Given the description of an element on the screen output the (x, y) to click on. 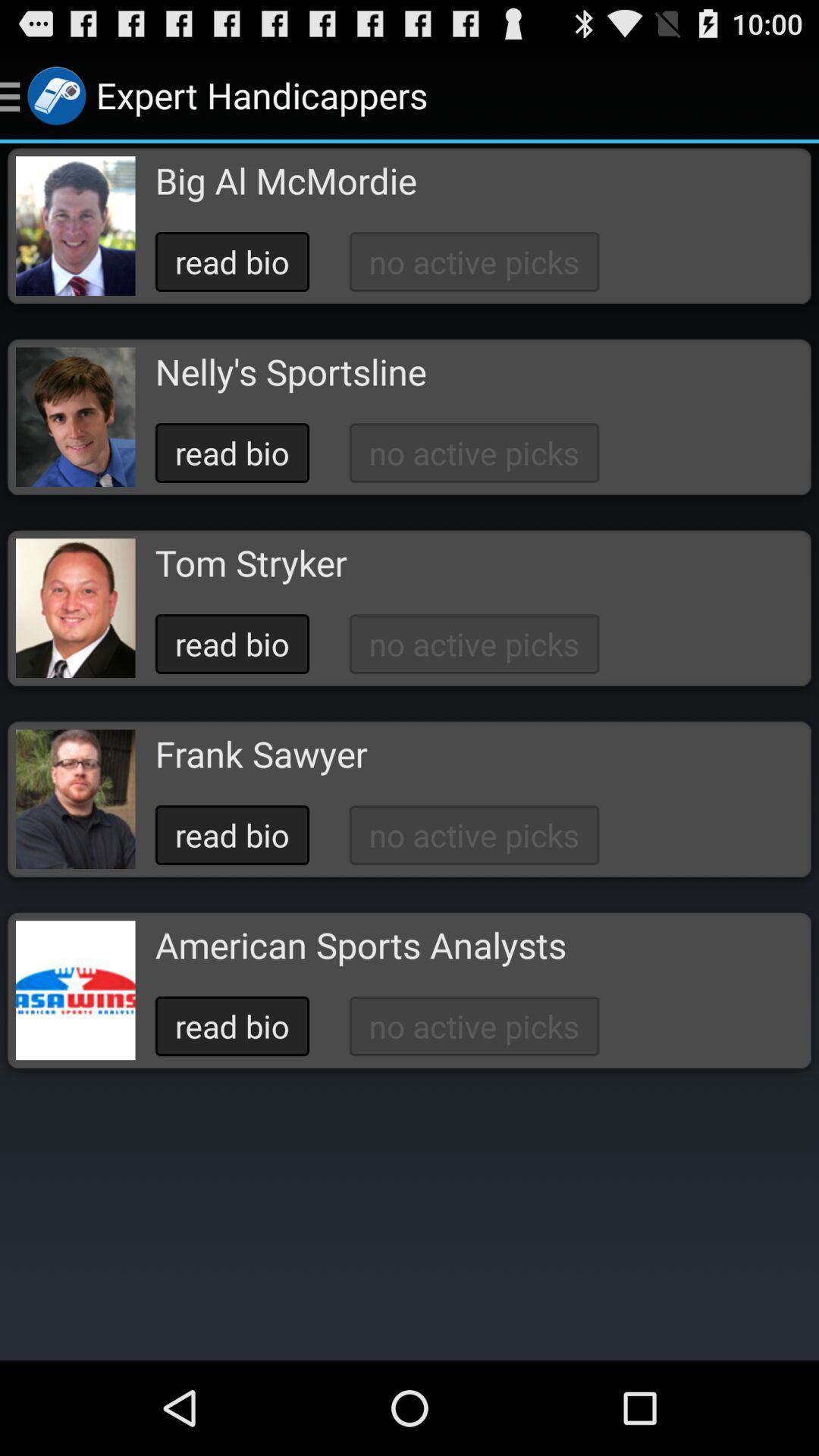
tap nelly's sportsline (290, 371)
